Given the description of an element on the screen output the (x, y) to click on. 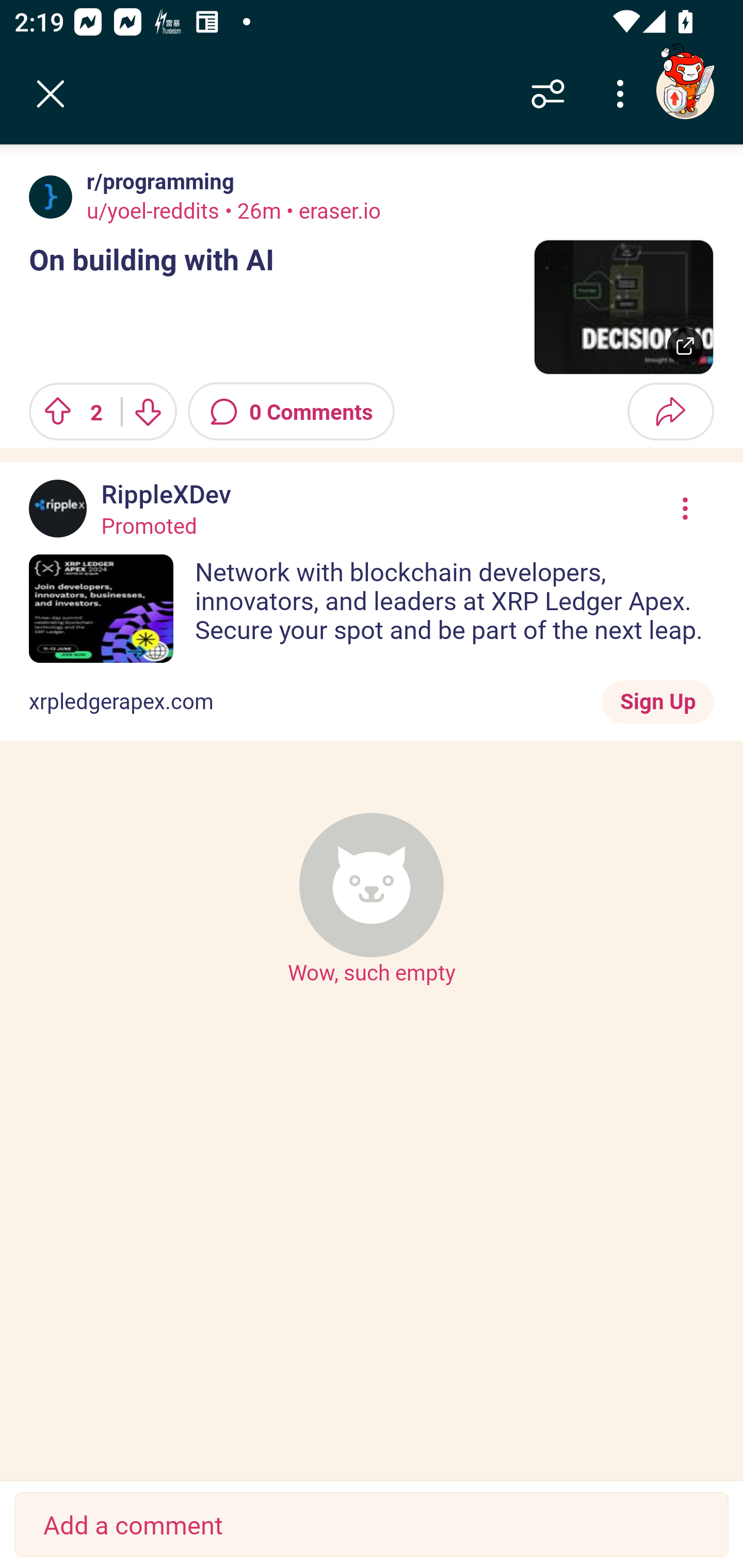
Back (50, 93)
TestAppium002 account (685, 90)
Sort comments (547, 93)
More options (623, 93)
r/programming (156, 181)
Avatar (50, 196)
u/yoel-reddits (152, 210)
 • eraser.io (330, 210)
Thumbnail image (623, 306)
Upvote 2 (67, 411)
Downvote (146, 411)
0 Comments (290, 411)
Share (670, 411)
Add a comment (371, 1524)
